Given the description of an element on the screen output the (x, y) to click on. 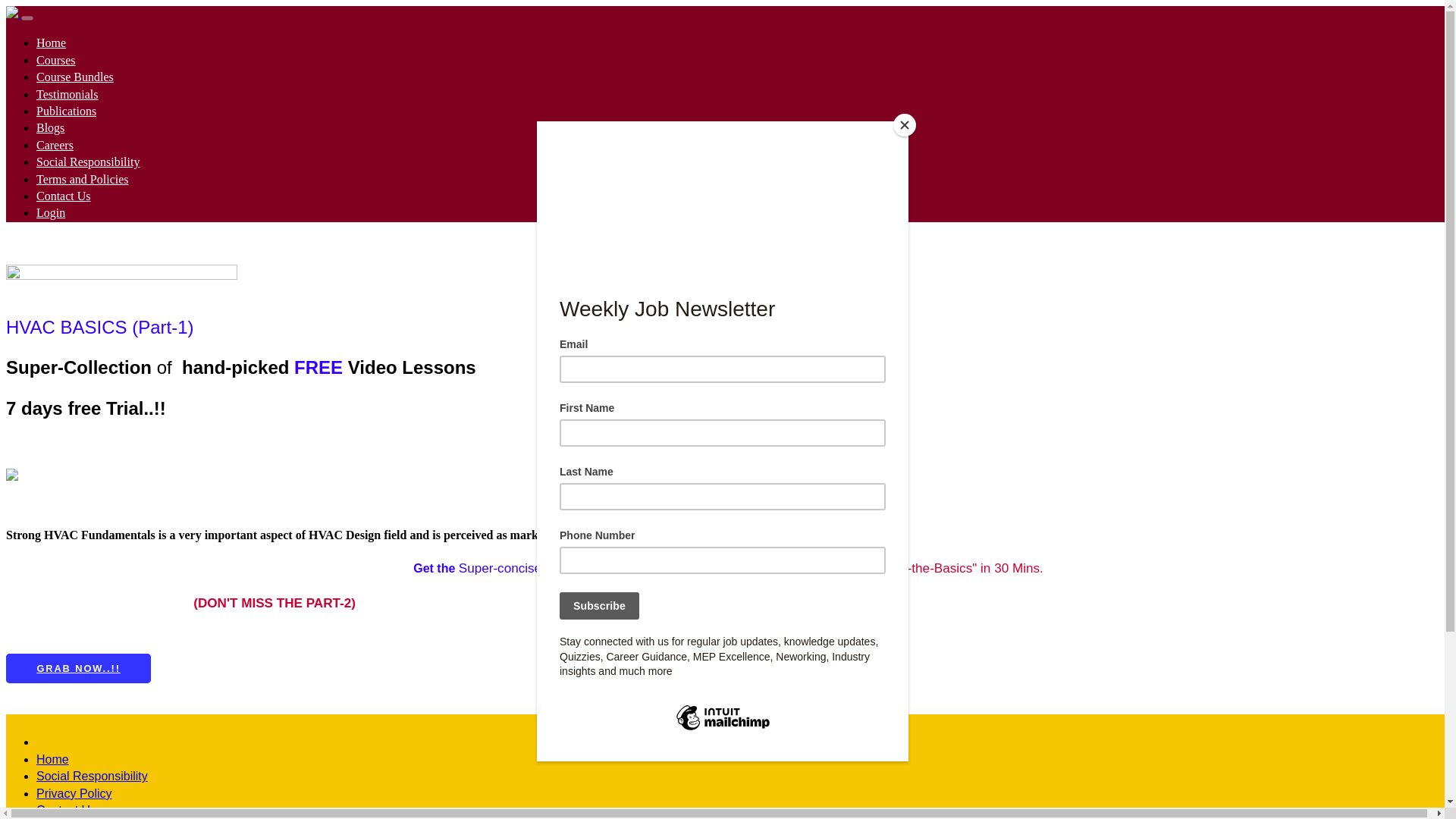
Careers (55, 144)
Course Bundles (74, 76)
Publications (66, 110)
Login (50, 212)
Privacy Policy (74, 793)
Home (52, 758)
Home (50, 42)
Contact Us (63, 195)
Courses (55, 60)
Blogs (50, 127)
Contact Us (66, 809)
Social Responsibility (87, 161)
Testimonials (67, 93)
GRAB NOW..!! (78, 668)
Social Responsibility (92, 775)
